Given the description of an element on the screen output the (x, y) to click on. 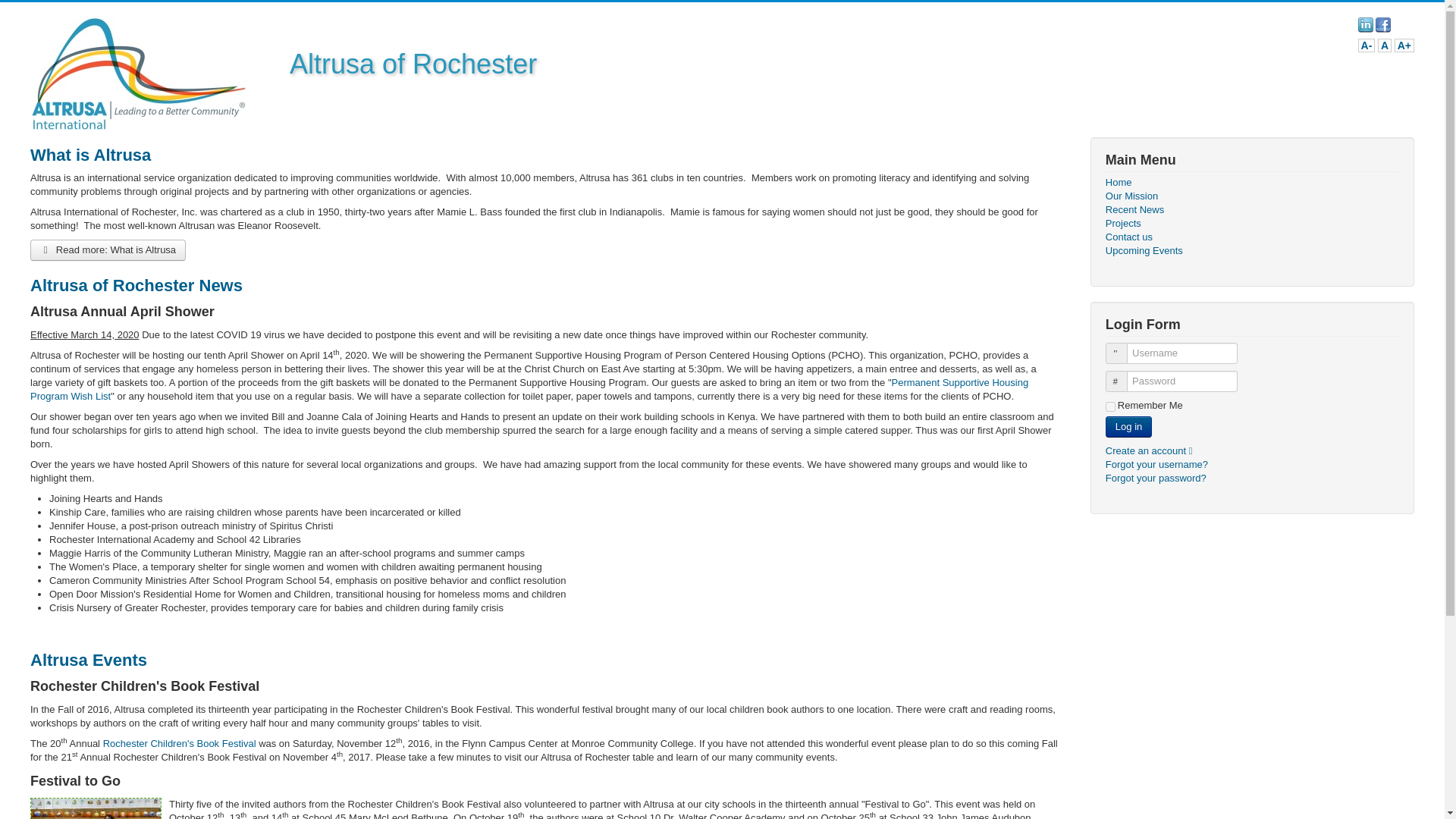
Home (1252, 182)
Altrusa of Rochester on Facebook (1382, 23)
Create an account (1153, 450)
Altrusa of Rochester (138, 73)
Projects (1252, 223)
Contact us (1252, 237)
yes (1110, 406)
Altrusa of Rochester News (136, 285)
Our Mission (1252, 196)
Read more: What is Altrusa (108, 250)
Recent News (1252, 210)
Forgot your password? (1156, 478)
Altrusa Events (88, 659)
What is Altrusa (90, 154)
A- (1366, 45)
